Given the description of an element on the screen output the (x, y) to click on. 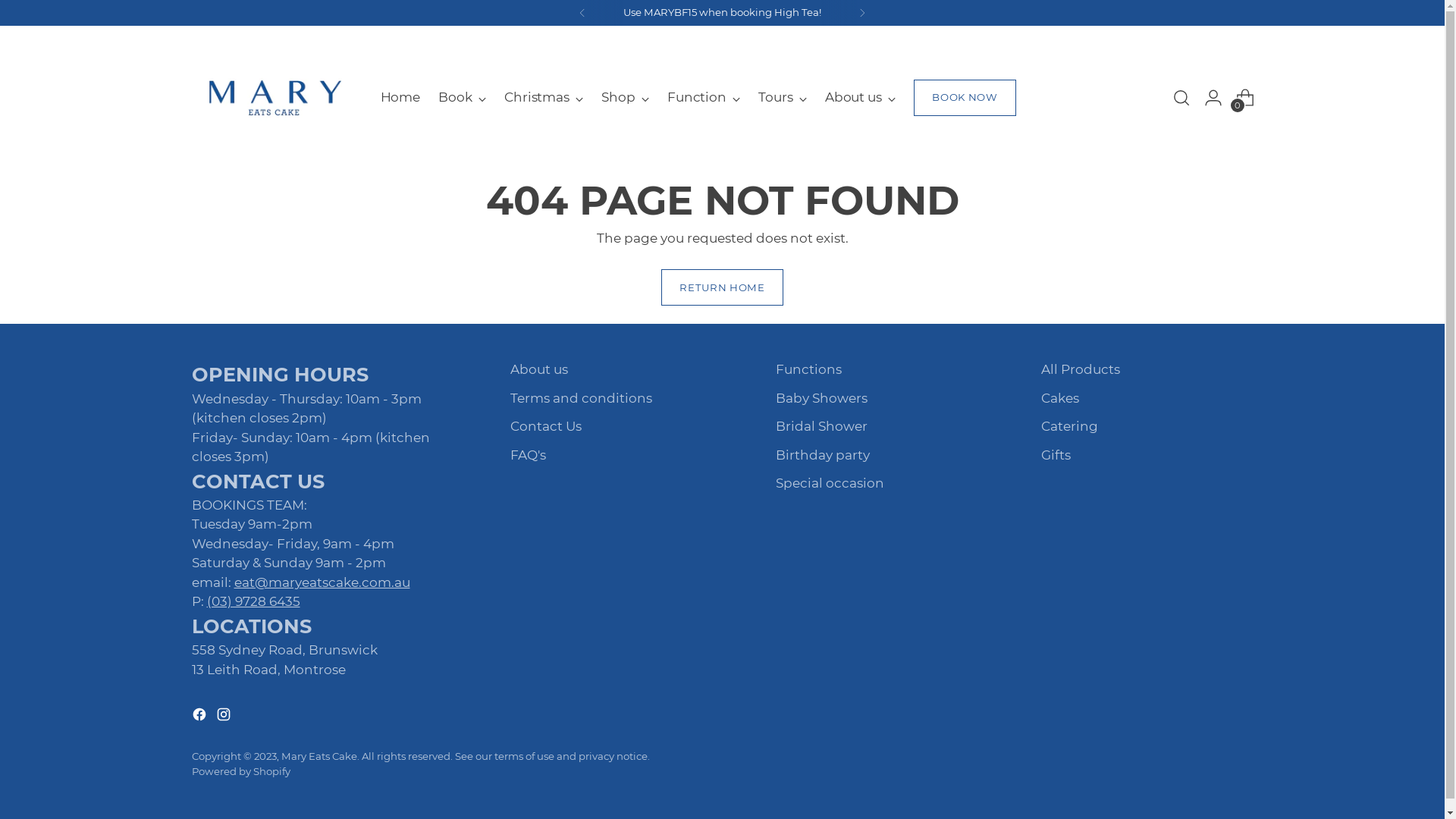
All Products Element type: text (1079, 368)
Special occasion Element type: text (829, 482)
About us Element type: text (538, 368)
Christmas Element type: text (543, 97)
BOOK NOW Element type: text (964, 97)
Baby Showers Element type: text (820, 397)
Black Friday sale on now! Element type: text (721, 12)
Shop Element type: text (618, 97)
Functions Element type: text (807, 368)
Function Element type: text (696, 97)
0 Element type: text (1245, 97)
(03) 9728 6435 Element type: text (252, 600)
Mary Eats Cake Element type: text (318, 755)
About us Element type: text (860, 97)
Tours Element type: text (782, 97)
eat@maryeatscake.com.au Element type: text (321, 581)
Catering Element type: text (1068, 425)
Book Element type: text (462, 97)
Function Element type: text (703, 97)
Home Element type: text (400, 97)
Bridal Shower Element type: text (820, 425)
Mary Eats Cake on Instagram Element type: hover (224, 717)
Contact Us Element type: text (544, 425)
RETURN HOME Element type: text (722, 287)
Next Element type: hover (861, 12)
About us Element type: text (853, 97)
Mary Eats Cake on Facebook Element type: hover (200, 717)
FAQ's Element type: text (527, 454)
Gifts Element type: text (1055, 454)
Cakes Element type: text (1059, 397)
Previous Element type: hover (582, 12)
Tours Element type: text (775, 97)
Shop Element type: text (625, 97)
Book Element type: text (455, 97)
Christmas Element type: text (536, 97)
Terms and conditions Element type: text (580, 397)
Powered by Shopify Element type: text (240, 771)
Birthday party Element type: text (822, 454)
